Given the description of an element on the screen output the (x, y) to click on. 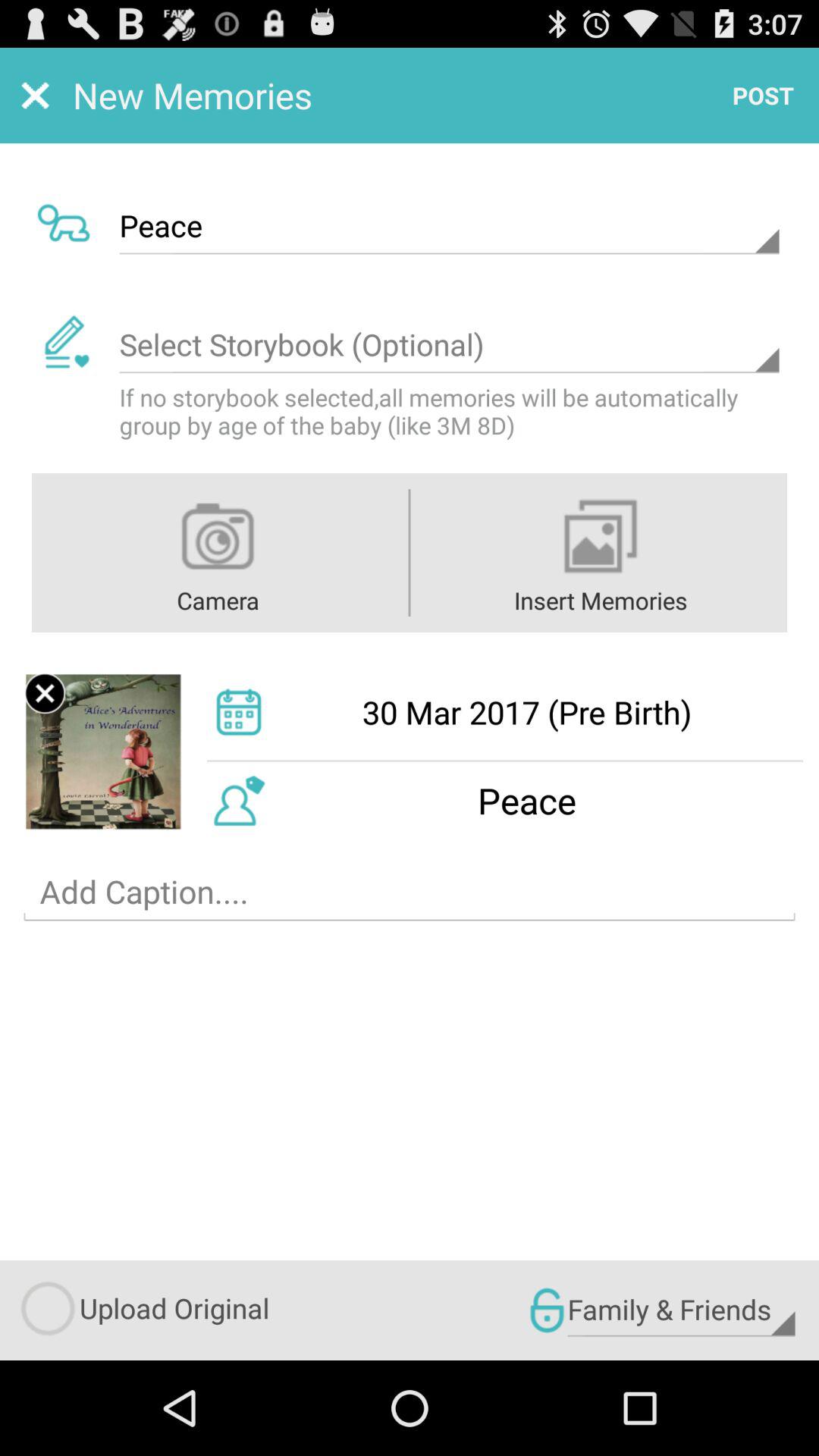
remove uploaded picture (44, 693)
